Given the description of an element on the screen output the (x, y) to click on. 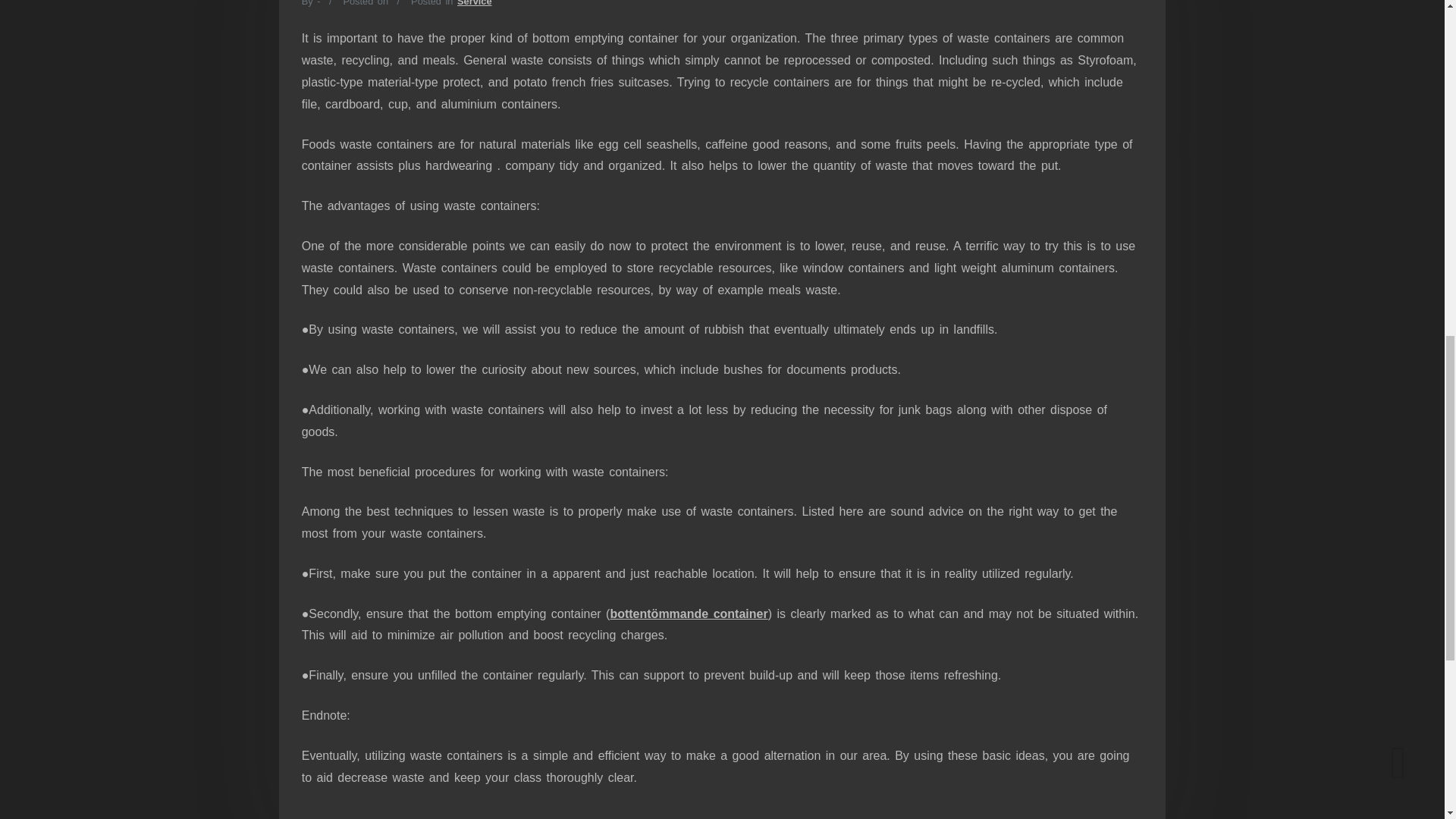
Service (474, 3)
